Given the description of an element on the screen output the (x, y) to click on. 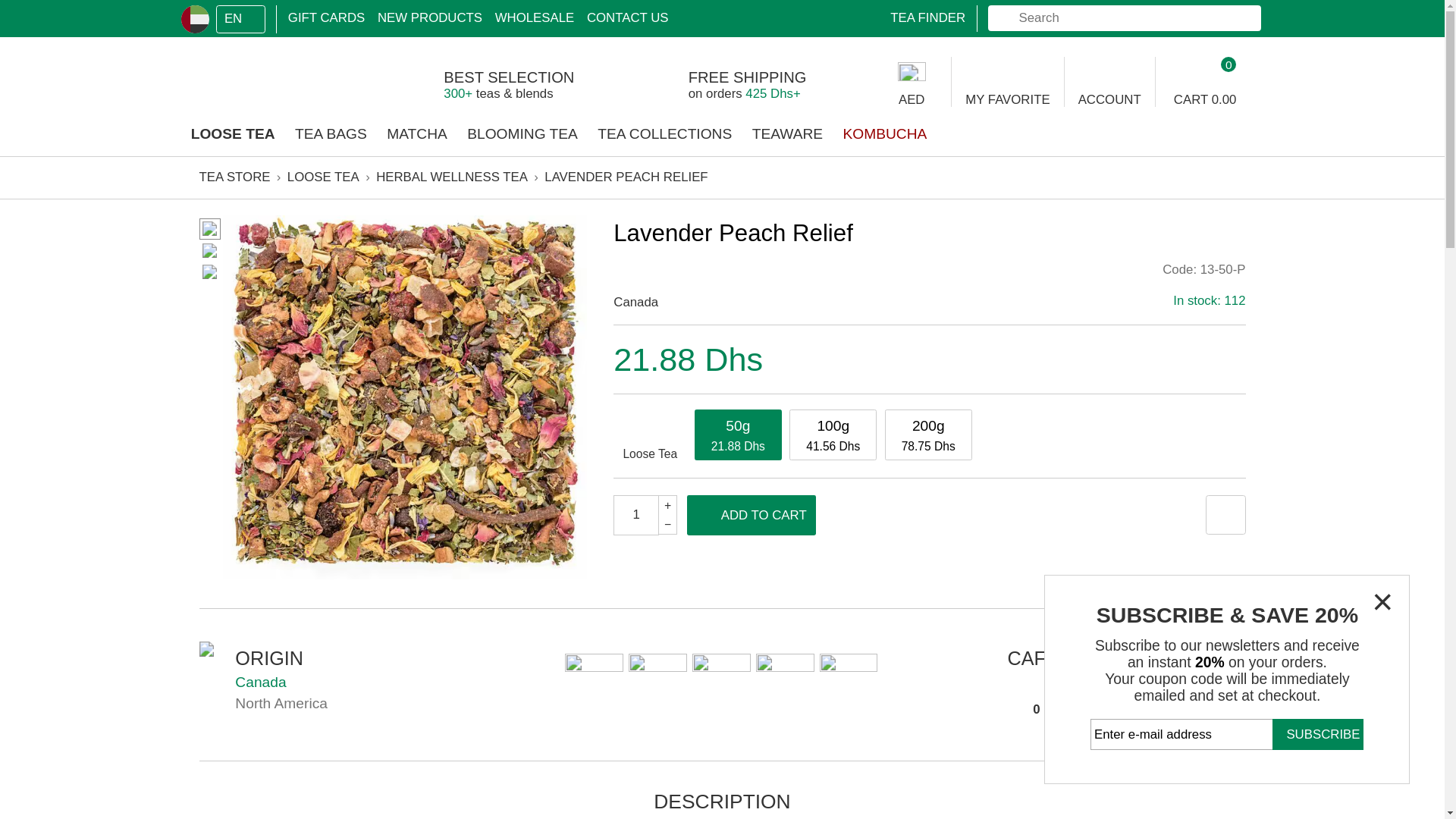
MY FAVORITE (839, 68)
CONTACT US (523, 15)
NEW PRODUCTS (357, 15)
WHOLESALE (445, 15)
Tealyra Middle East (207, 70)
TEA FINDER (764, 15)
ACCOUNT (924, 68)
AED (759, 70)
Enter e-mail address (1022, 611)
